Given the description of an element on the screen output the (x, y) to click on. 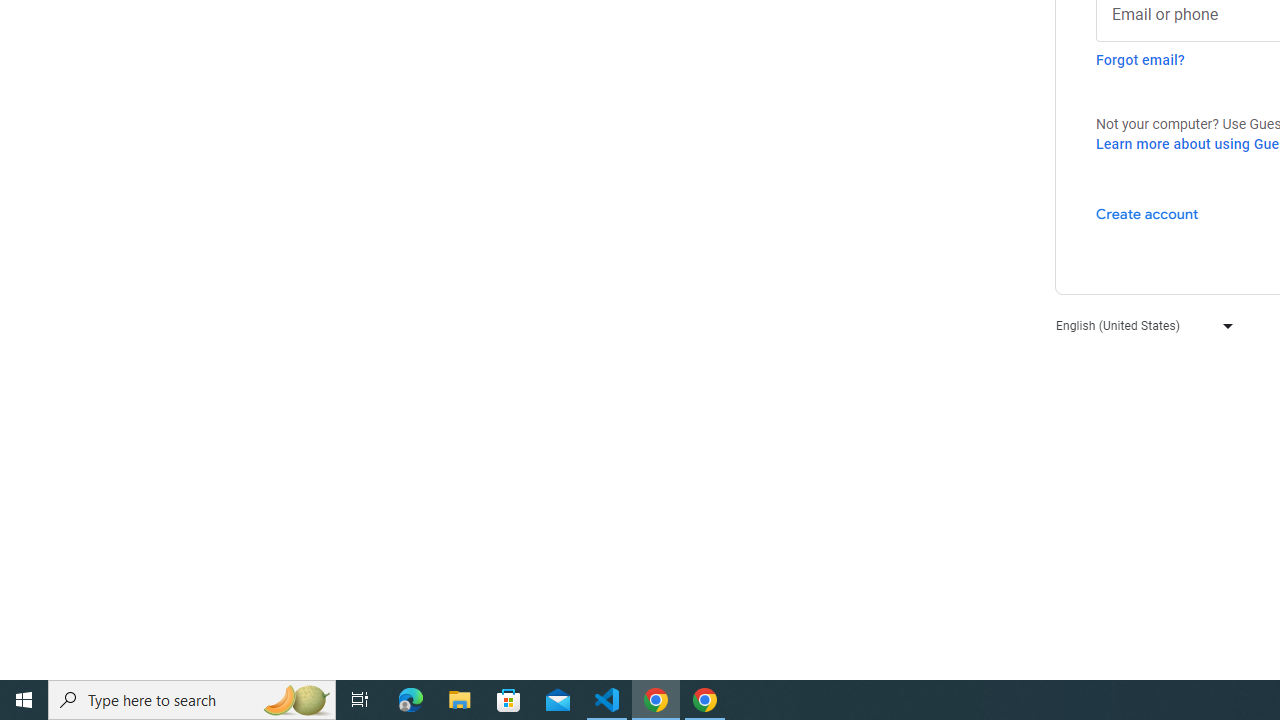
Forgot email? (1140, 59)
Create account (1146, 213)
English (United States) (1139, 324)
